Given the description of an element on the screen output the (x, y) to click on. 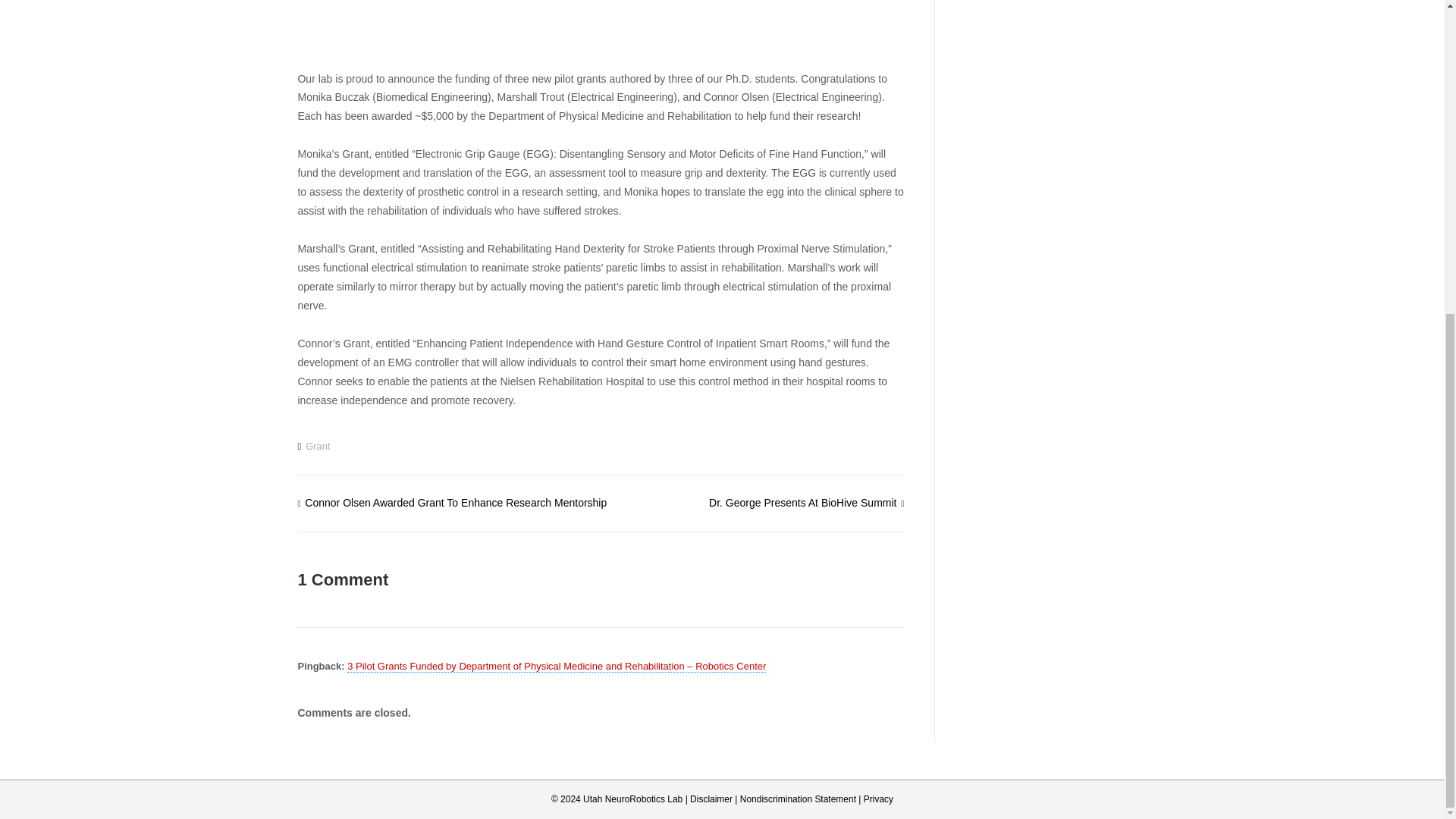
Nondiscrimination Statement (797, 798)
Disclaimer (711, 798)
Connor Olsen Awarded Grant To Enhance Research Mentorship (452, 502)
Dr. George Presents At BioHive Summit (806, 502)
Grant (317, 446)
Utah NeuroRobotics Lab (632, 798)
Privacy (878, 798)
